Given the description of an element on the screen output the (x, y) to click on. 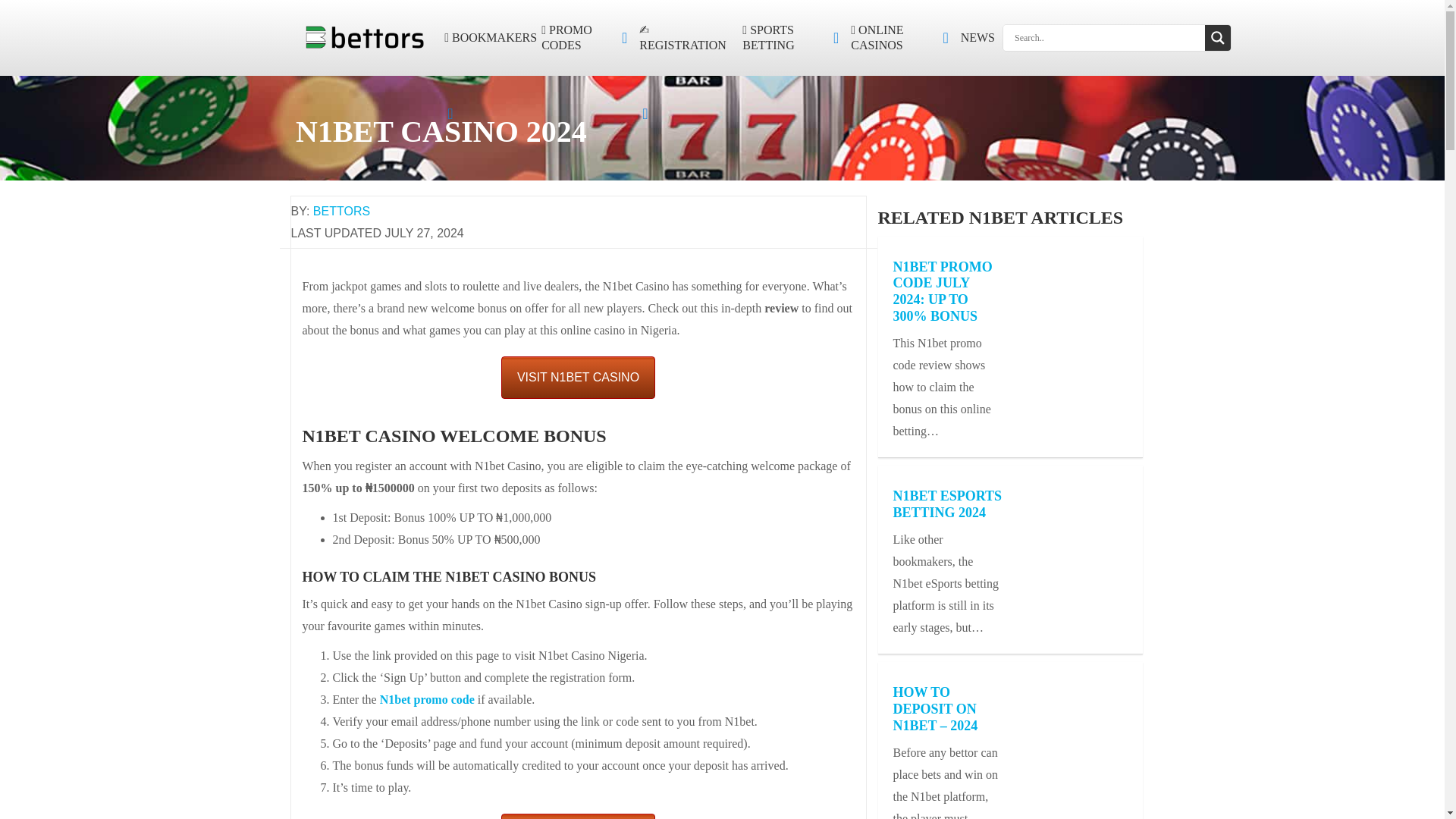
BETTORS (341, 210)
VISIT N1BET CASINO (577, 816)
N1bet promo code (427, 698)
VISIT N1BET CASINO (577, 377)
